Given the description of an element on the screen output the (x, y) to click on. 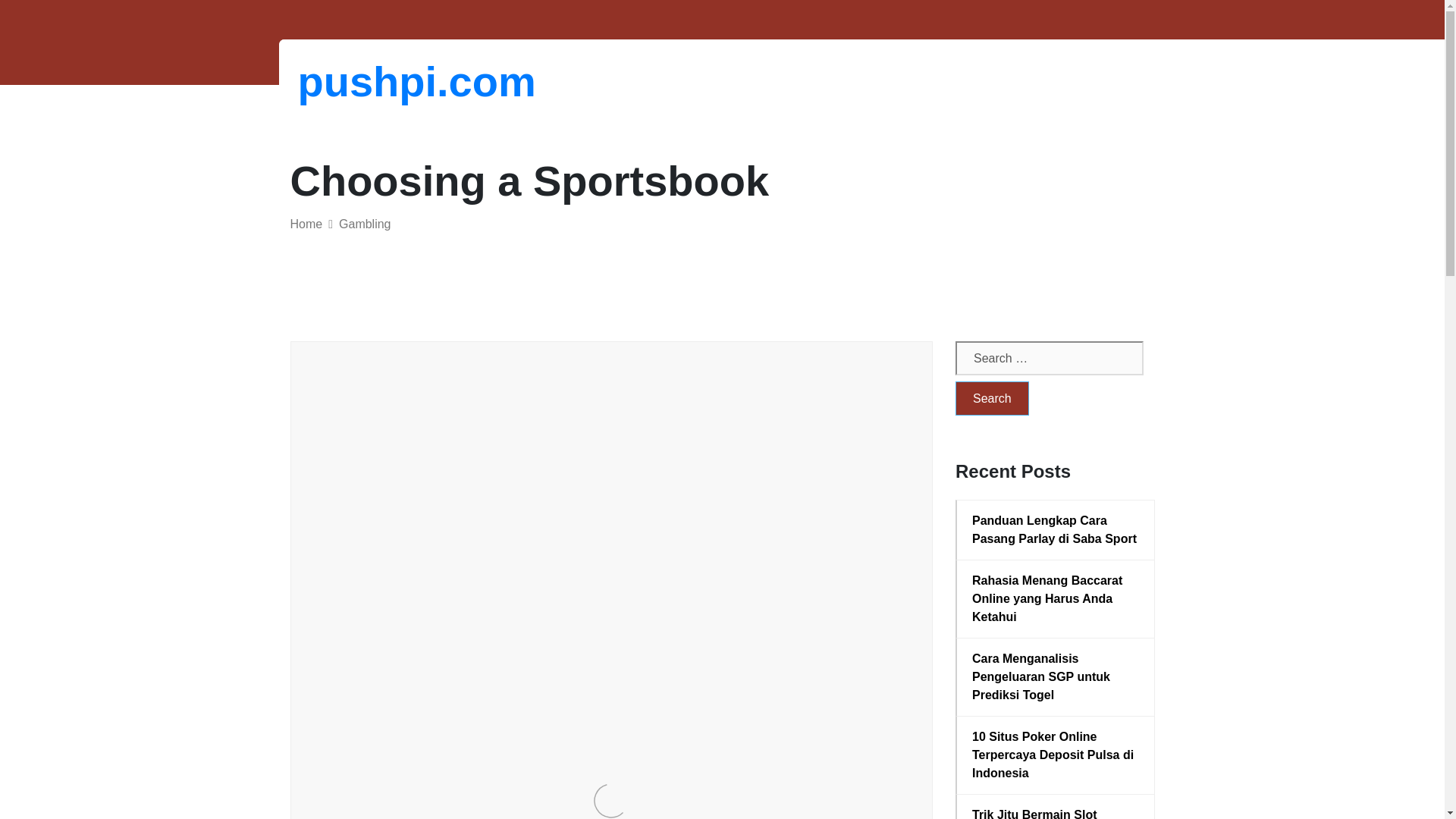
Gambling (364, 223)
Rahasia Menang Baccarat Online yang Harus Anda Ketahui (1055, 598)
Search (992, 398)
togel hongkong (491, 605)
10 Situs Poker Online Terpercaya Deposit Pulsa di Indonesia (1055, 755)
Cara Menganalisis Pengeluaran SGP untuk Prediksi Togel (1055, 677)
Home (305, 223)
Search (992, 398)
Choosing a Sportsbook (479, 423)
Panduan Lengkap Cara Pasang Parlay di Saba Sport (1055, 529)
pushpi.com (376, 81)
Search (992, 398)
Trik Jitu Bermain Slot Pragmatic Maxwin untuk Pemula (1055, 812)
